Given the description of an element on the screen output the (x, y) to click on. 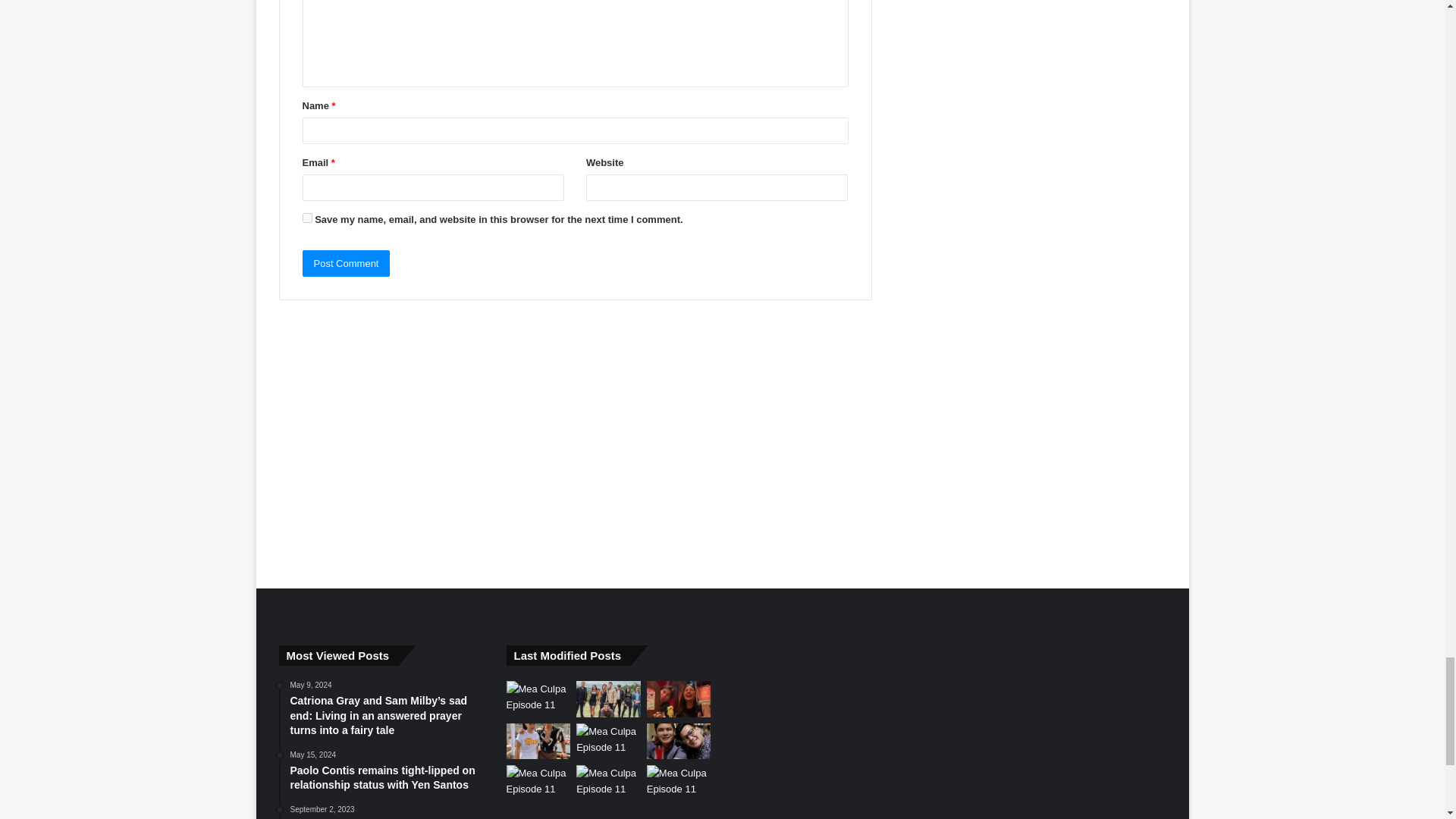
Post Comment (345, 263)
yes (306, 217)
